Given the description of an element on the screen output the (x, y) to click on. 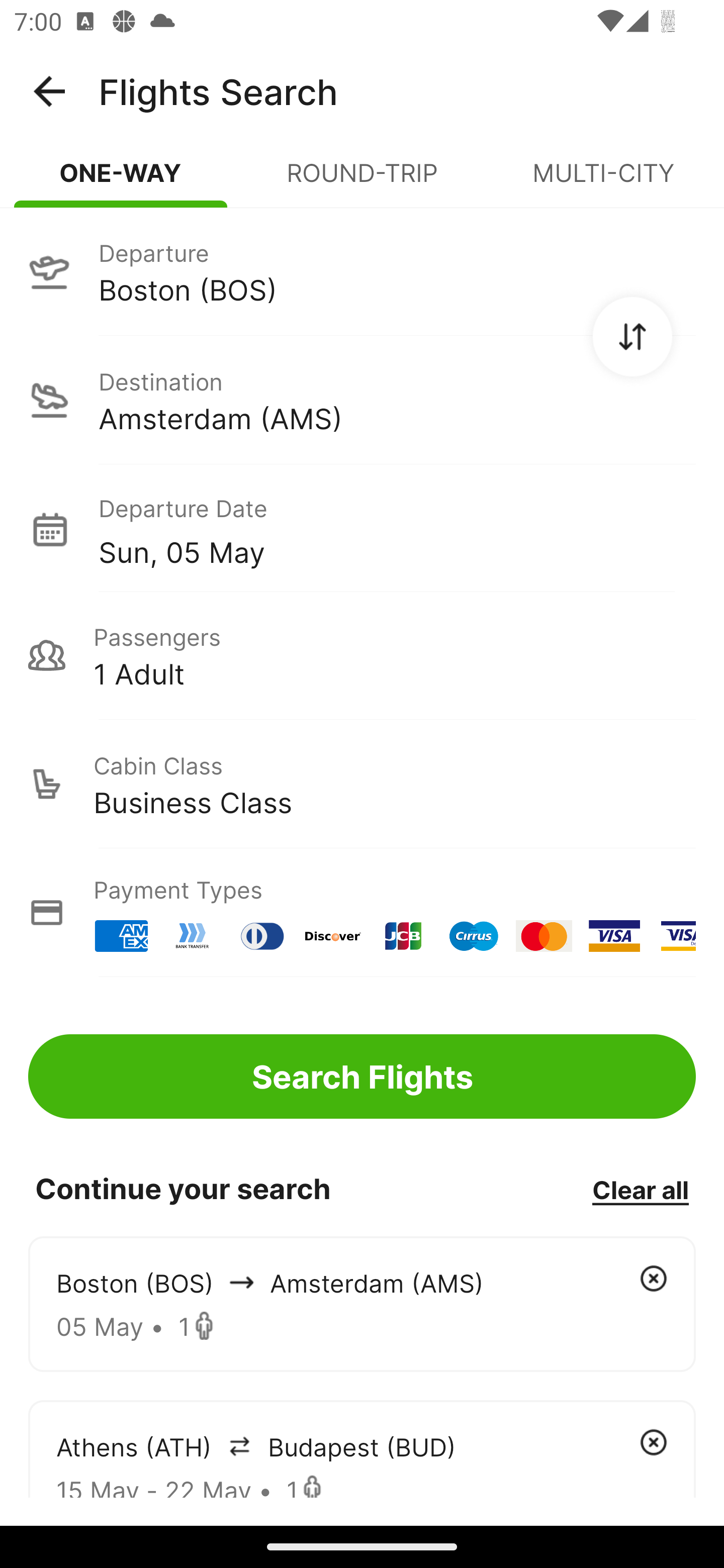
ONE-WAY (120, 180)
ROUND-TRIP (361, 180)
MULTI-CITY (603, 180)
Departure Boston (BOS) (362, 270)
Destination Amsterdam (AMS) (362, 400)
Departure Date Sun, 05 May (396, 528)
Passengers 1 Adult (362, 655)
Cabin Class Business Class (362, 783)
Payment Types (362, 912)
Search Flights (361, 1075)
Clear all (640, 1189)
